Given the description of an element on the screen output the (x, y) to click on. 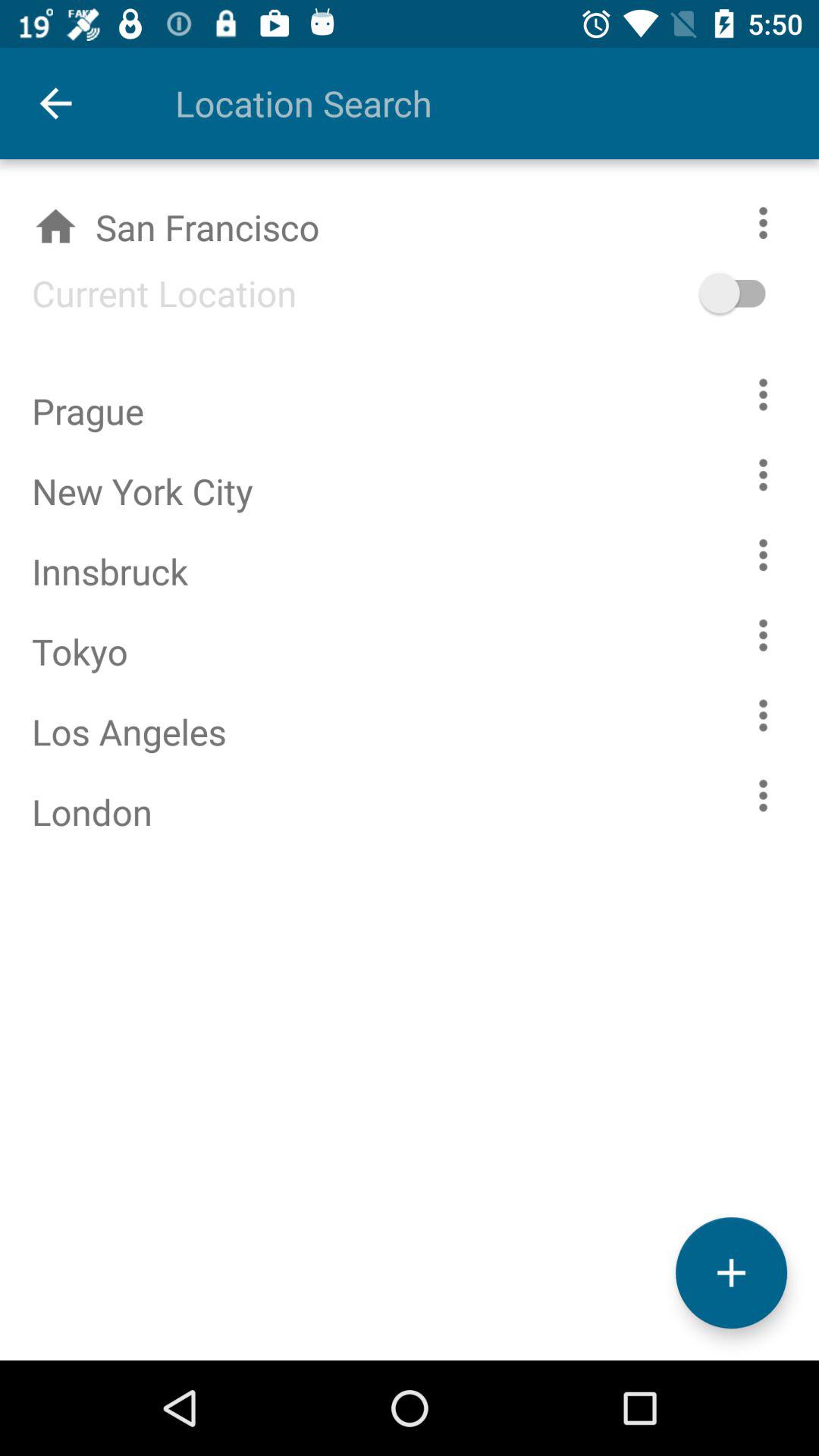
next option (763, 394)
